Given the description of an element on the screen output the (x, y) to click on. 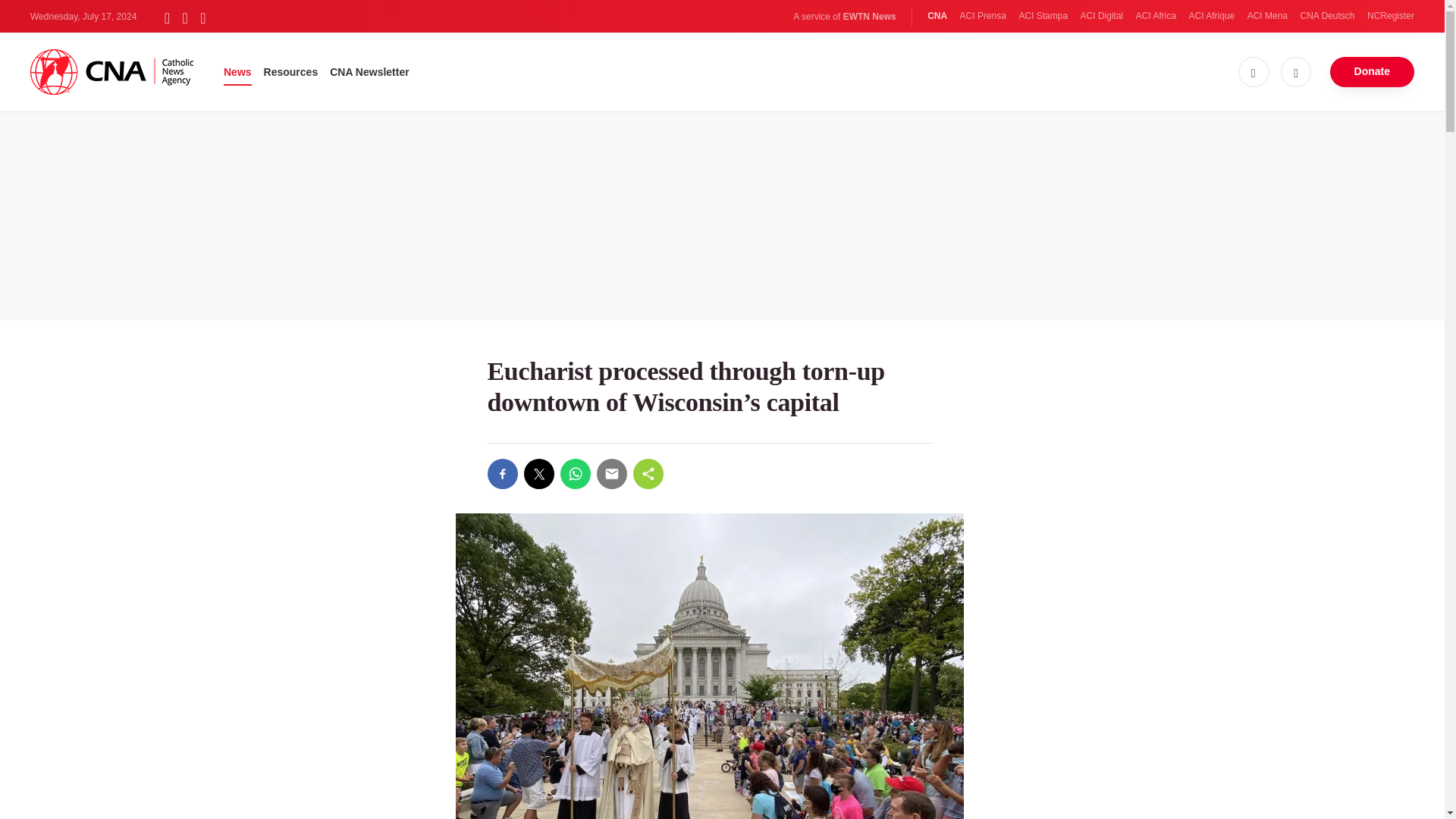
ACI Prensa (982, 16)
CNA (937, 16)
ACI Mena (1267, 16)
ACI Digital (1102, 16)
Resources (290, 71)
NCRegister (1390, 16)
ACI Afrique (1211, 16)
CNA Deutsch (1327, 16)
EWTN News (869, 16)
ACI Africa (1155, 16)
ACI Stampa (1042, 16)
EWTN News (869, 16)
News (237, 71)
